Given the description of an element on the screen output the (x, y) to click on. 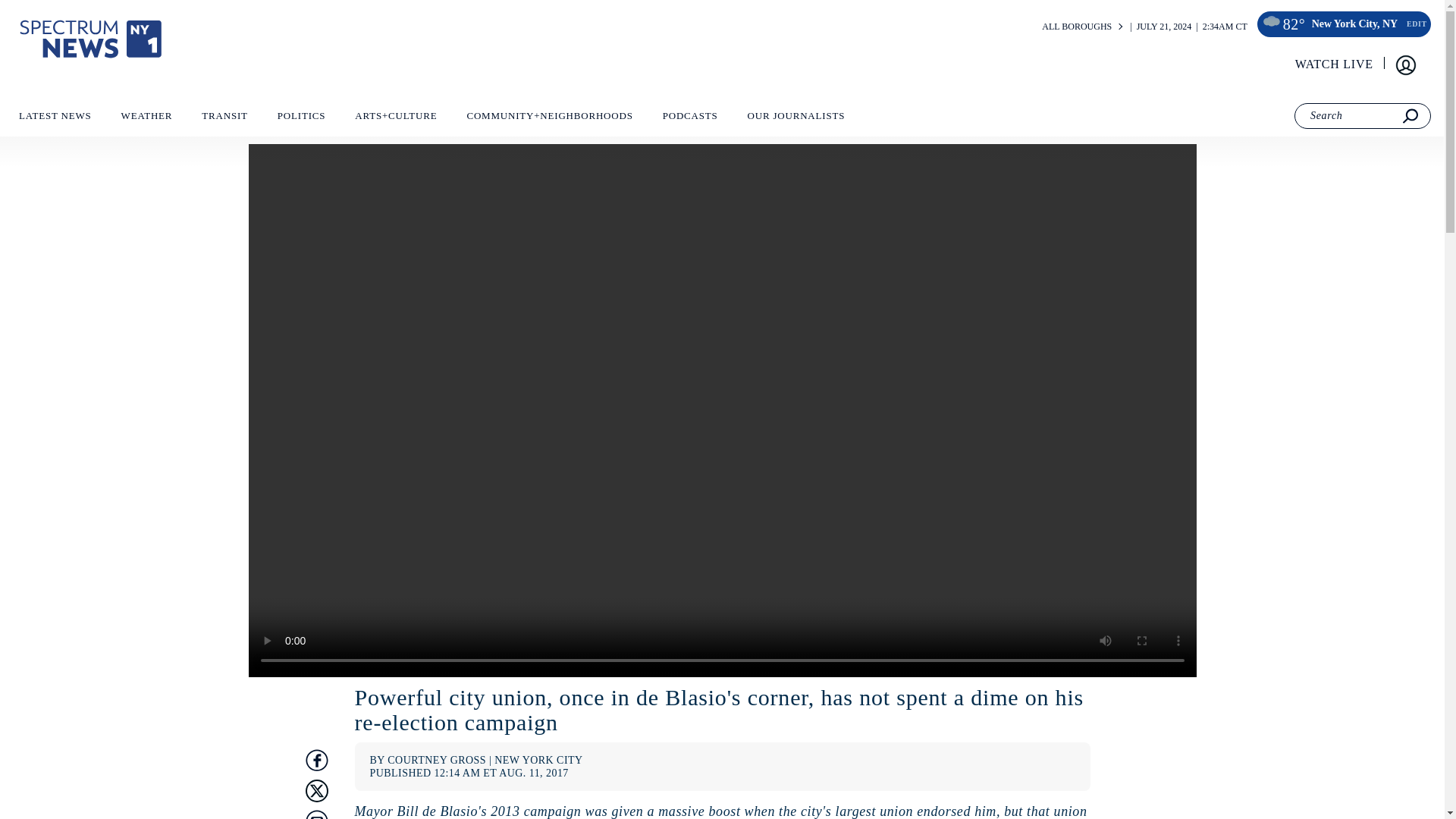
Share with Email (315, 814)
Share with Facebook (315, 760)
TRANSIT (224, 119)
WEATHER (146, 119)
LATEST NEWS (55, 119)
ALL BOROUGHS (1077, 26)
WATCH LIVE (1334, 64)
New York City, NY (1354, 23)
Share with Twitter (315, 790)
